Given the description of an element on the screen output the (x, y) to click on. 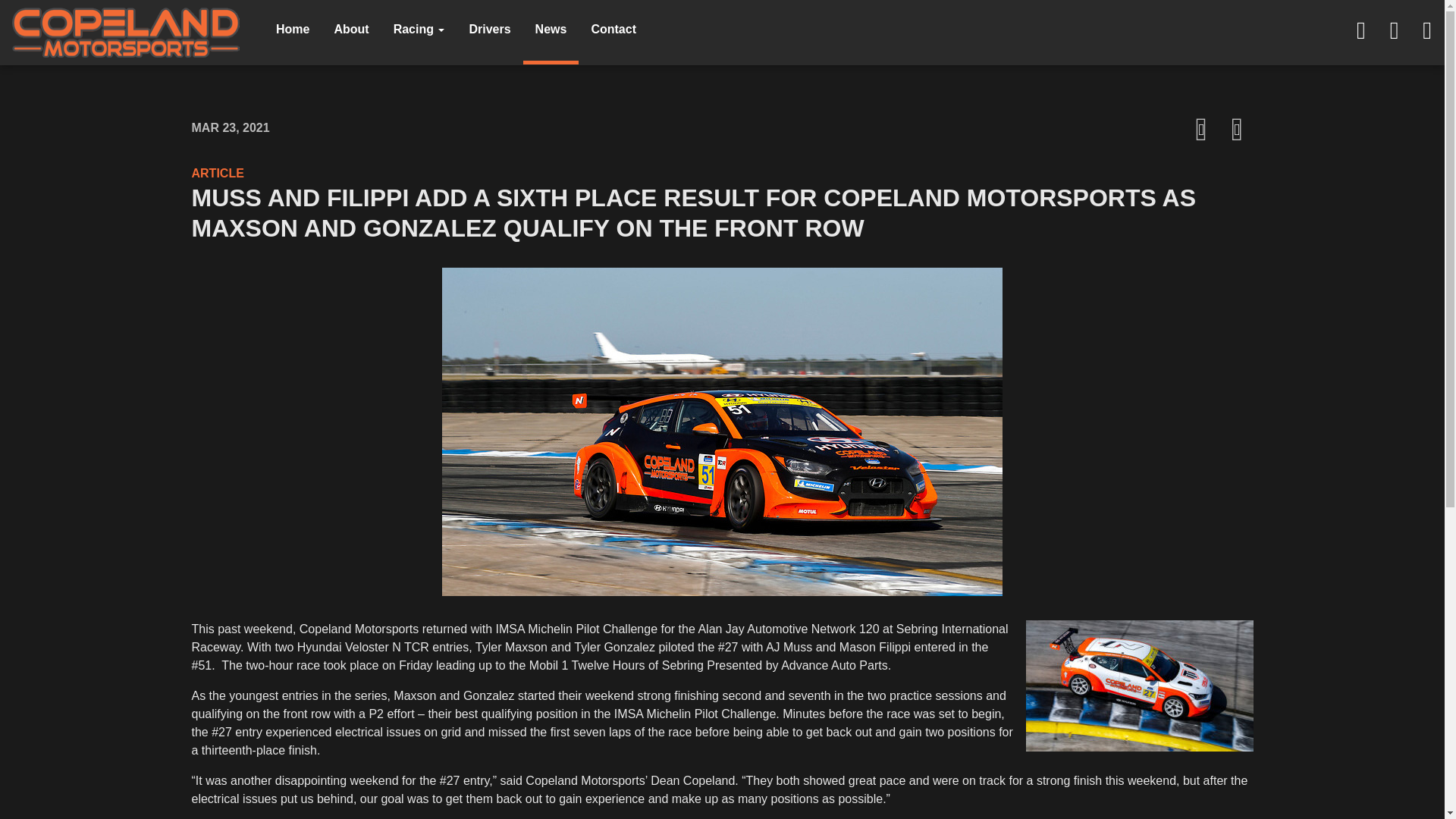
Home (292, 32)
About (350, 32)
Drivers (489, 32)
Share on Facebook (1201, 128)
Drivers (489, 32)
Share on Facebook (1201, 128)
Contact (612, 32)
Contact (612, 32)
Share on Twitter (1237, 128)
Racing (419, 32)
Racing (419, 32)
About (350, 32)
Share on Twitter (1237, 128)
Home (292, 32)
